Given the description of an element on the screen output the (x, y) to click on. 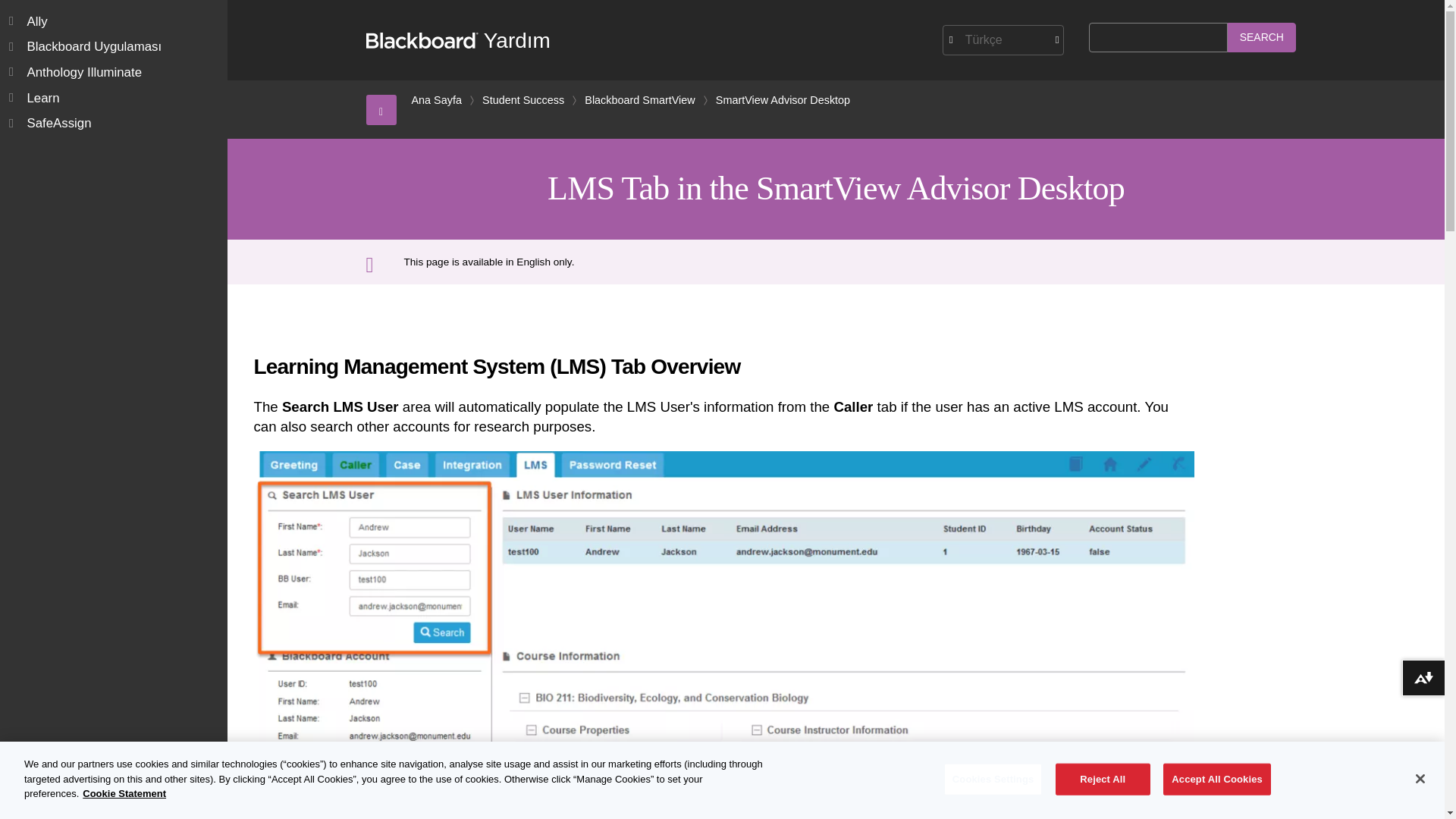
Ana Sayfa (435, 99)
Search (1261, 37)
SmartView Advisor Desktop (783, 99)
Blackboard SmartView (639, 99)
Search (1261, 37)
Student Success (522, 99)
